Given the description of an element on the screen output the (x, y) to click on. 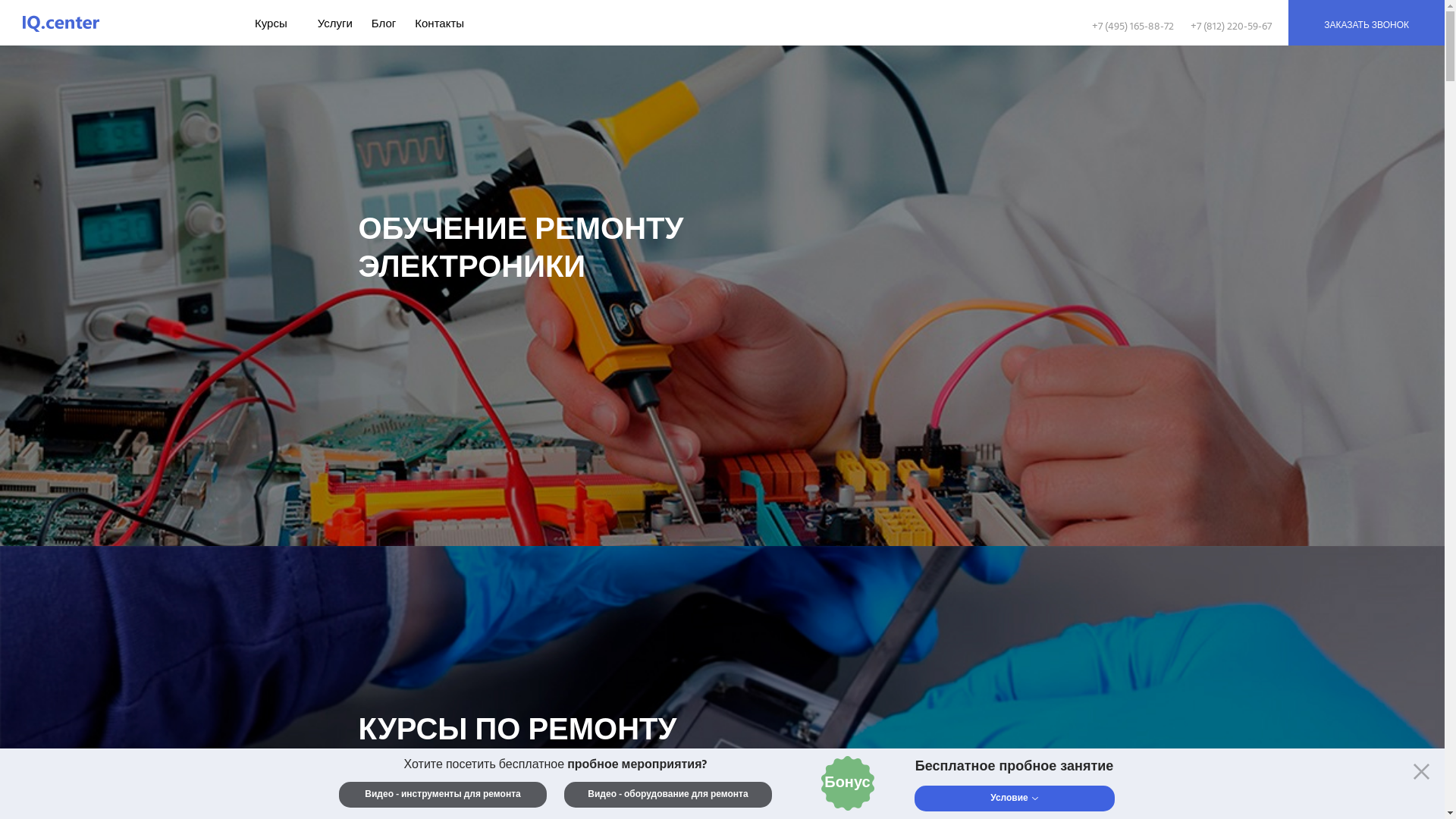
+7 (495) 165-88-72 Element type: text (1132, 26)
+7 (812) 220-59-67 Element type: text (1230, 26)
